Given the description of an element on the screen output the (x, y) to click on. 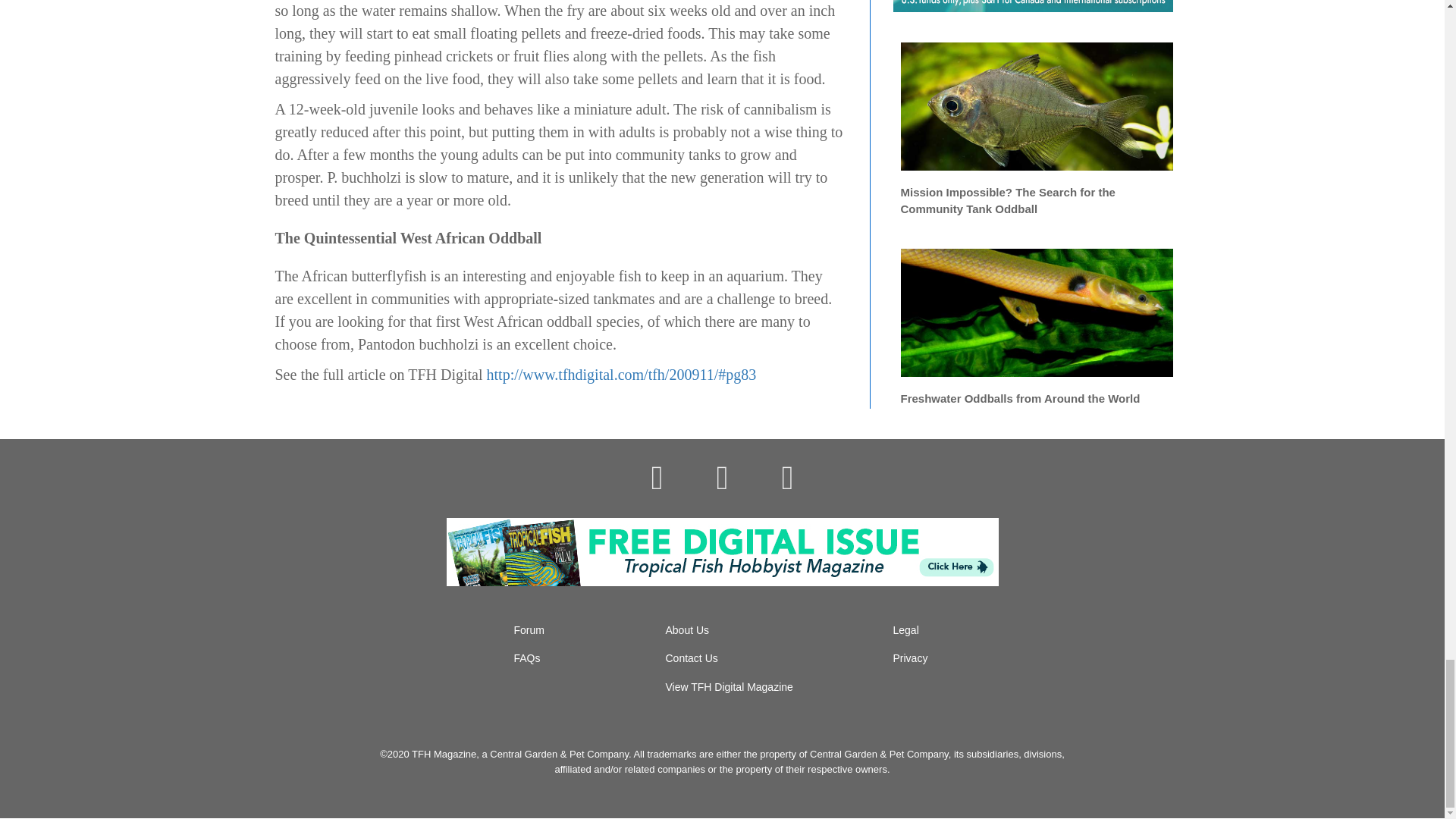
Forum (528, 630)
Contact Us (691, 657)
About Us (687, 630)
Privacy (910, 657)
Legal (905, 630)
View TFH Digital Magazine (729, 686)
FAQs (526, 657)
